Given the description of an element on the screen output the (x, y) to click on. 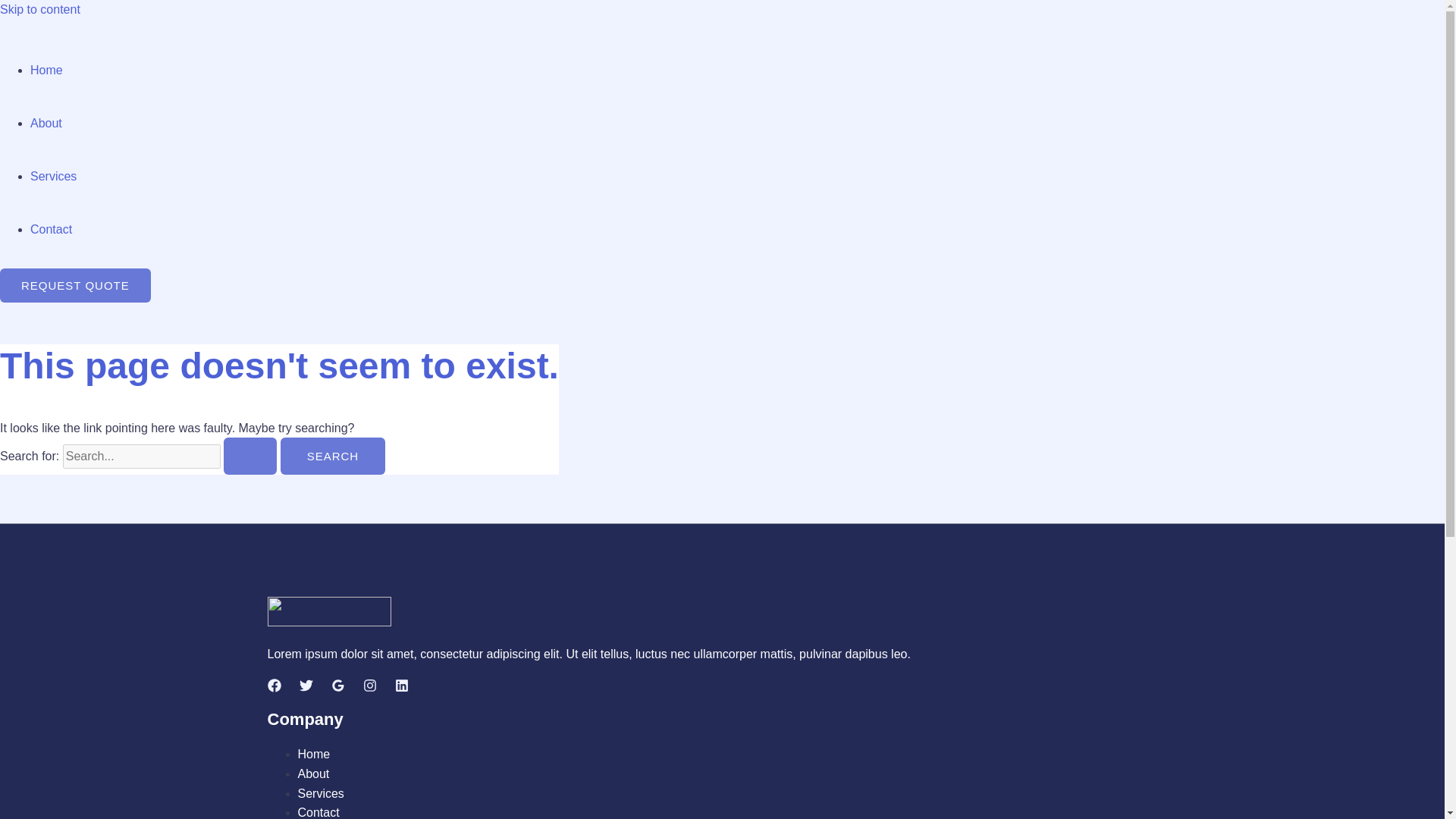
Contact (318, 812)
Home (313, 753)
Services (320, 793)
Google Reviews (336, 685)
About (313, 773)
REQUEST QUOTE (75, 285)
Search (333, 456)
Search (333, 456)
Home (46, 69)
Google Reviews (336, 687)
